Given the description of an element on the screen output the (x, y) to click on. 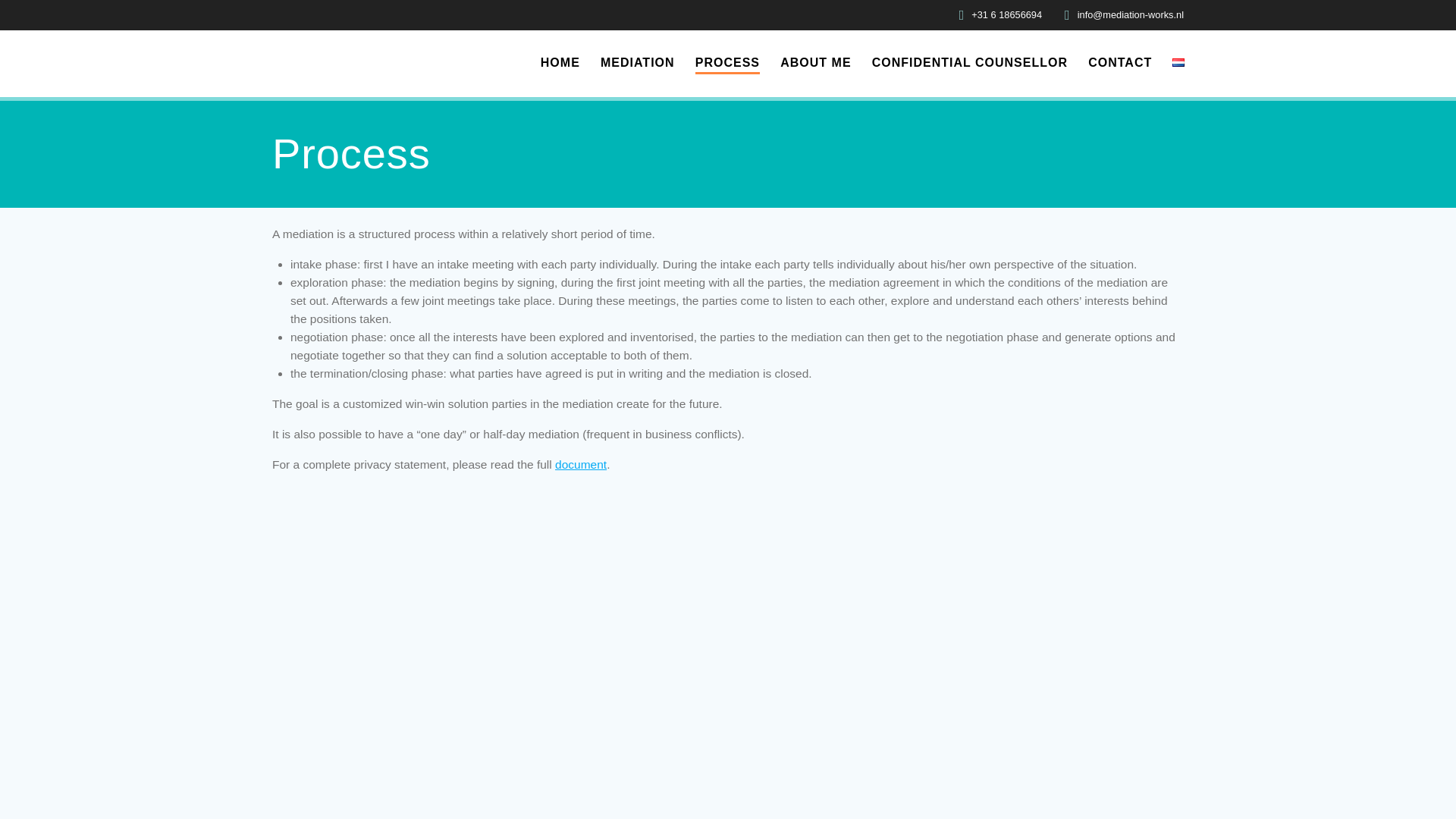
ABOUT ME (815, 62)
CONFIDENTIAL COUNSELLOR (969, 62)
MEDIATION (637, 62)
document (580, 463)
CONTACT (1119, 62)
Webcellence (715, 779)
PROCESS (727, 64)
HOME (559, 62)
